Given the description of an element on the screen output the (x, y) to click on. 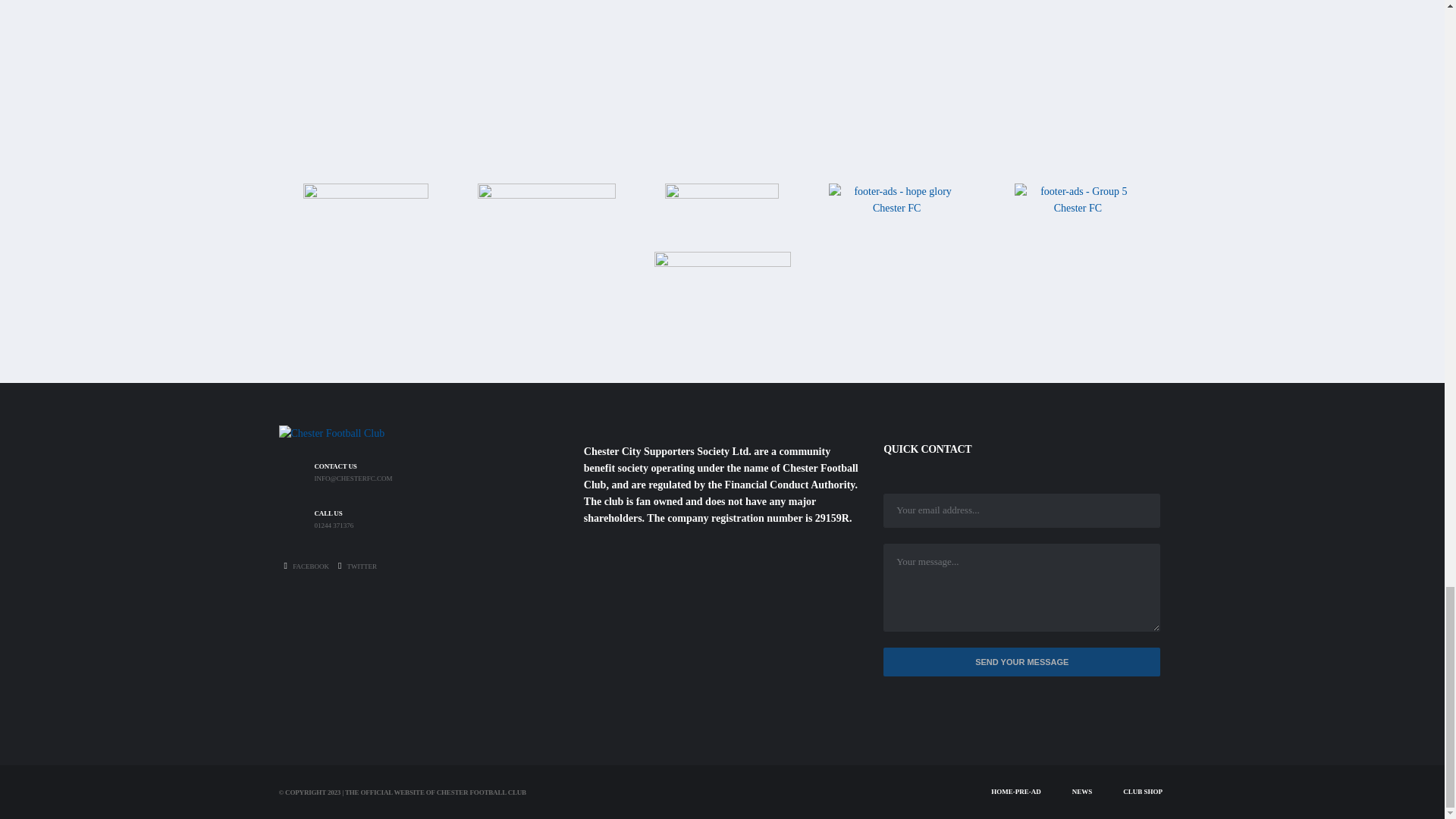
Print (721, 215)
mbna-2019-1 (546, 214)
hope glory photo (896, 215)
Mars-Jones-Logo-BG (721, 297)
Group 5 photo (1077, 208)
Send Your Message (1021, 662)
New-Balance-80 (365, 213)
